Given the description of an element on the screen output the (x, y) to click on. 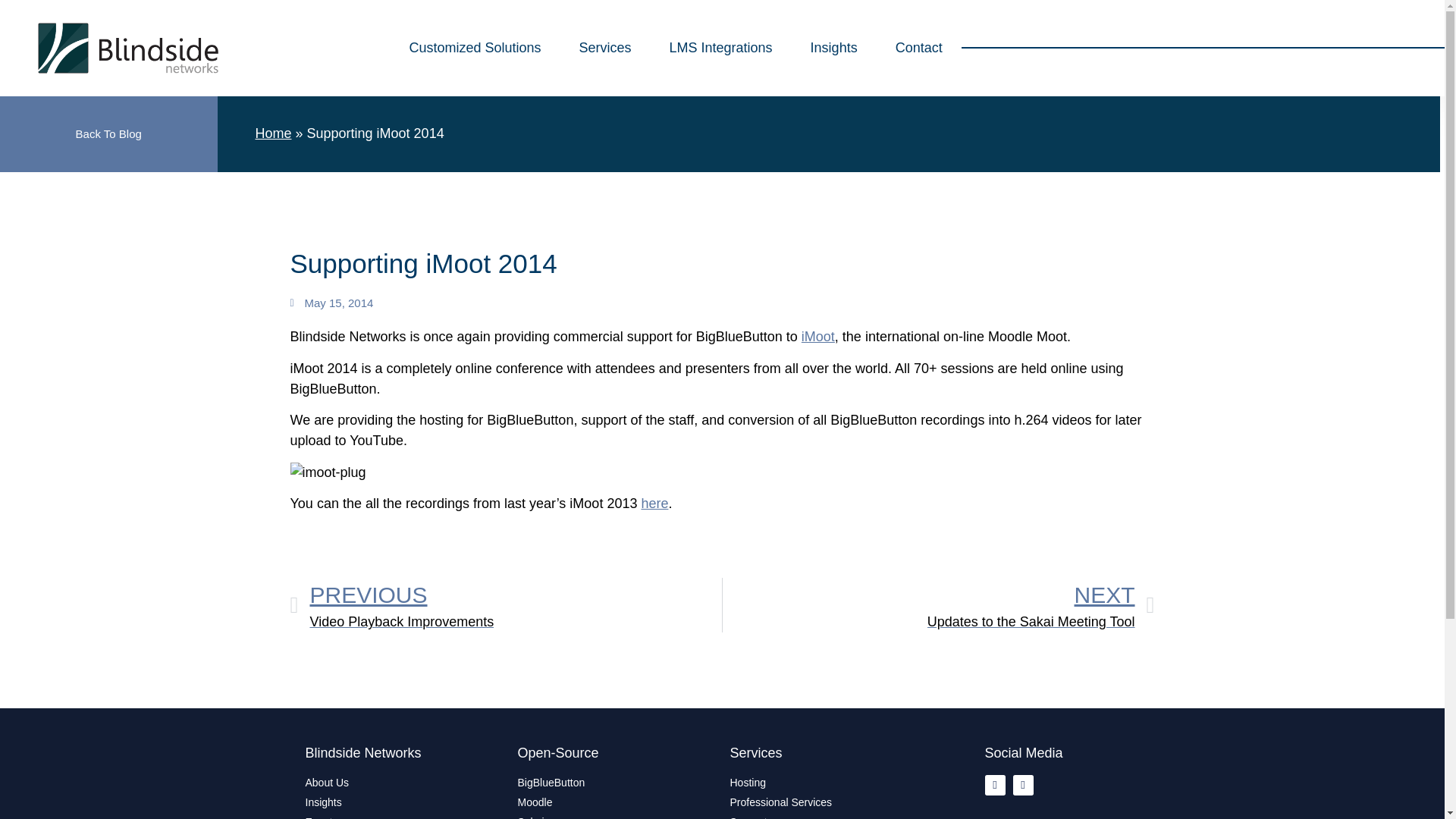
Home (272, 133)
Professional Services (827, 802)
Insights (938, 605)
Moodle (403, 802)
Services (615, 802)
Back To Blog (604, 47)
BigBlueButton (108, 133)
Support (615, 782)
LMS Integrations (827, 816)
iMoot (721, 47)
Customized Solutions (505, 605)
About Us (818, 336)
Events (474, 47)
